Given the description of an element on the screen output the (x, y) to click on. 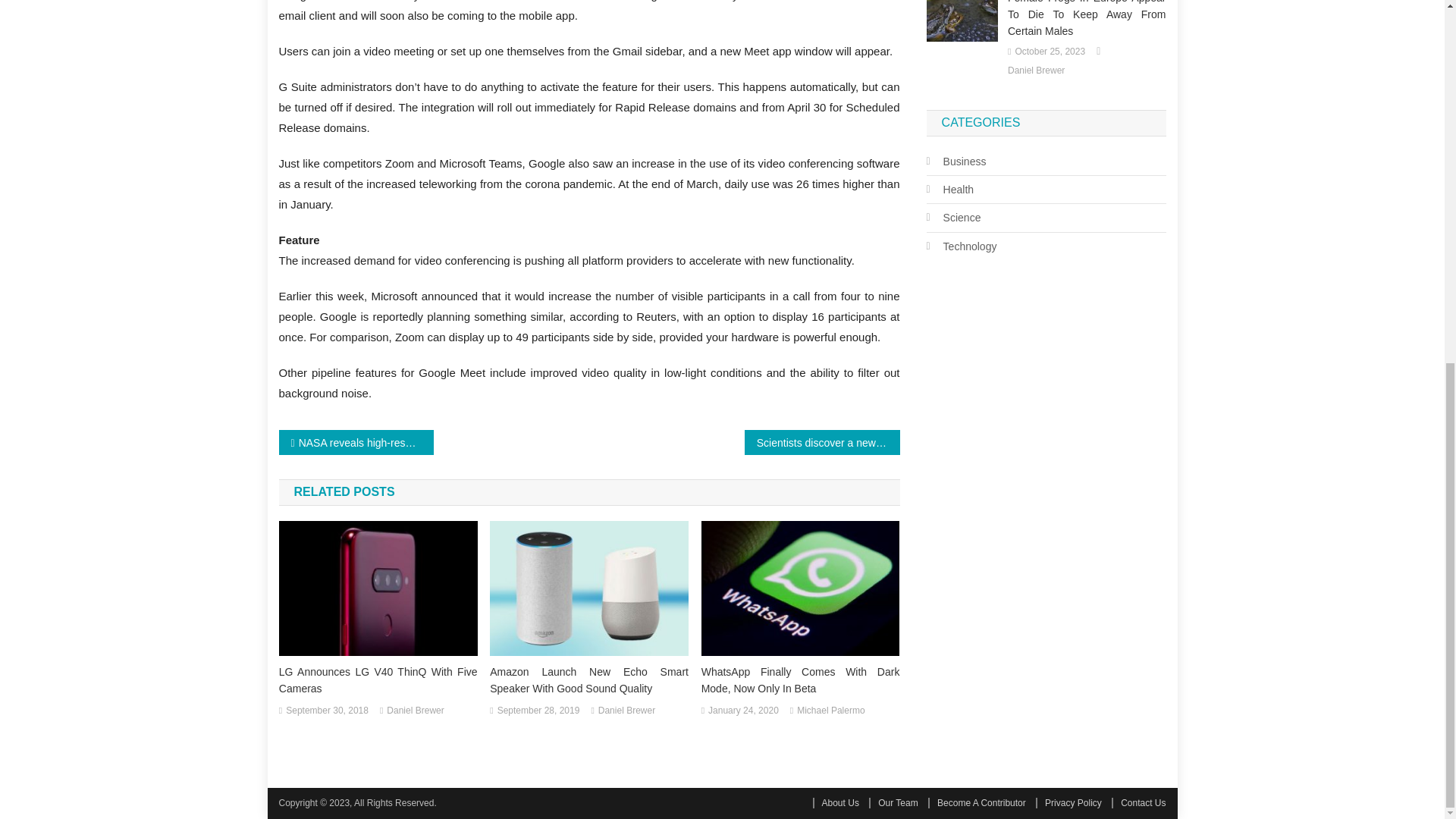
Amazon Launch New Echo Smart Speaker With Good Sound Quality (588, 679)
Daniel Brewer (415, 710)
NASA reveals high-resolution images of the Sun (356, 442)
WhatsApp Finally Comes With Dark Mode, Now Only In Beta (800, 679)
September 30, 2018 (326, 710)
Daniel Brewer (626, 710)
LG Announces LG V40 ThinQ With Five Cameras (378, 679)
September 28, 2019 (538, 710)
January 24, 2020 (742, 710)
